Given the description of an element on the screen output the (x, y) to click on. 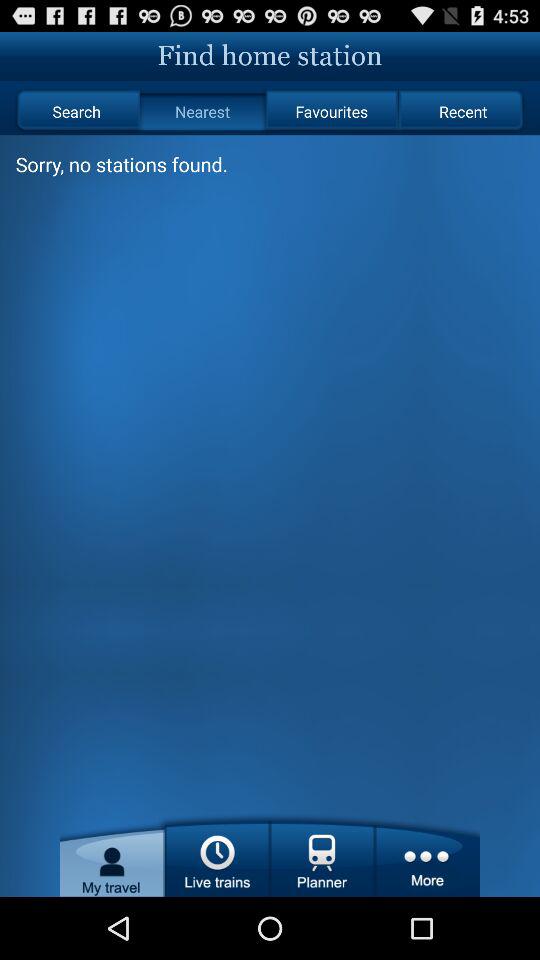
flip until recent icon (462, 111)
